Given the description of an element on the screen output the (x, y) to click on. 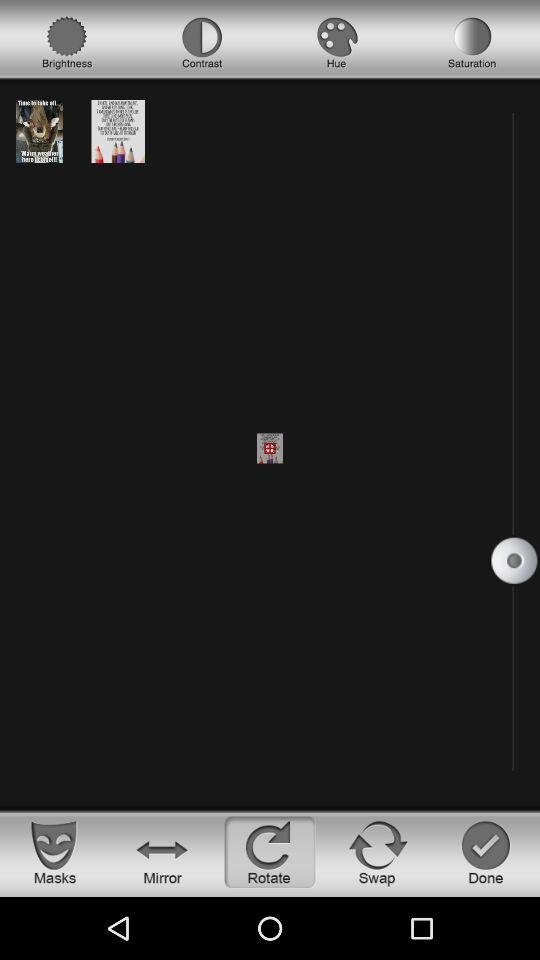
go to masks tab (53, 852)
